Given the description of an element on the screen output the (x, y) to click on. 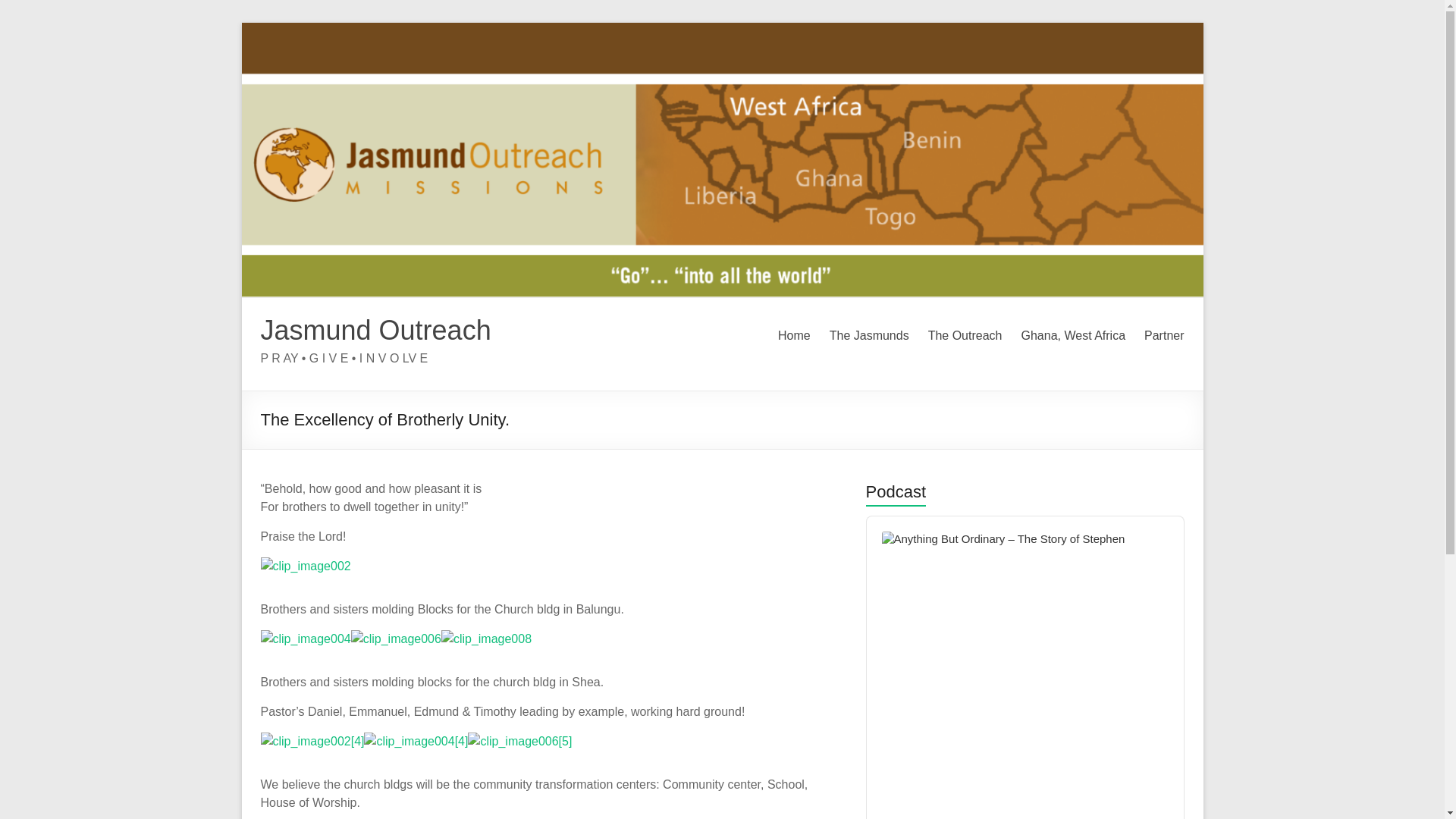
Partner (1163, 335)
Jasmund Outreach (376, 329)
The Jasmunds (868, 335)
Ghana, West Africa (1072, 335)
Jasmund Outreach (376, 329)
The Outreach (965, 335)
Home (793, 335)
